Given the description of an element on the screen output the (x, y) to click on. 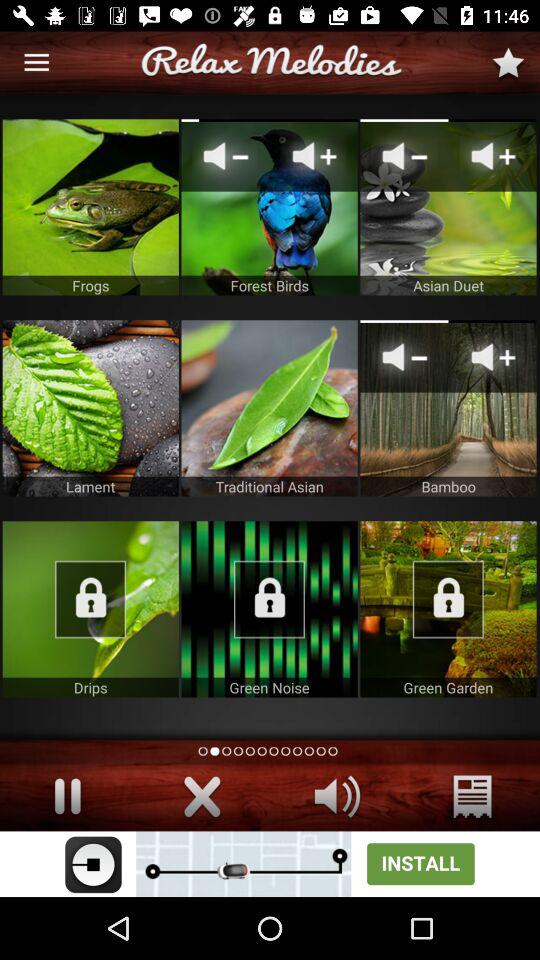
set frog sound (90, 207)
